Given the description of an element on the screen output the (x, y) to click on. 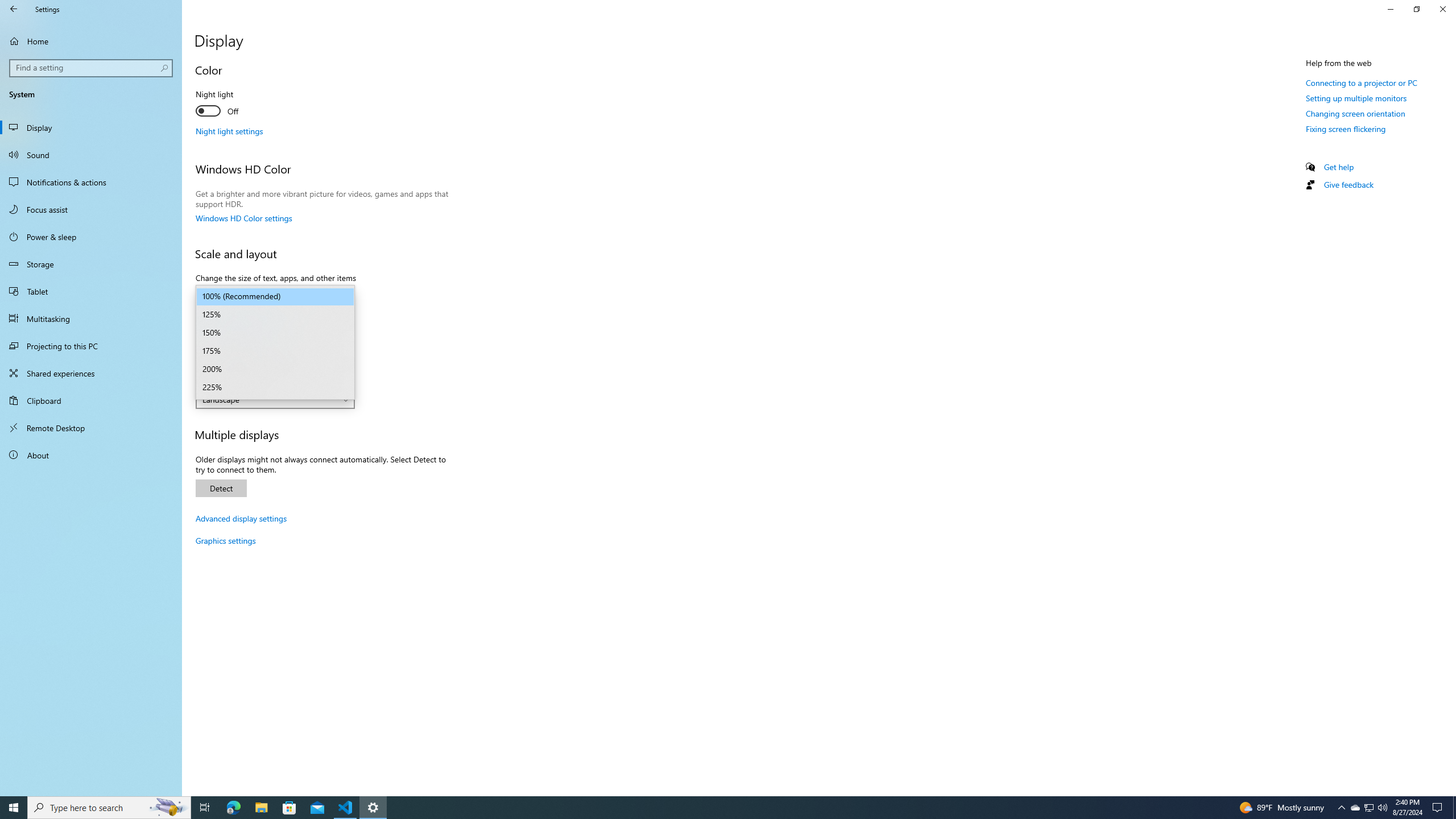
Windows HD Color settings (243, 217)
